Given the description of an element on the screen output the (x, y) to click on. 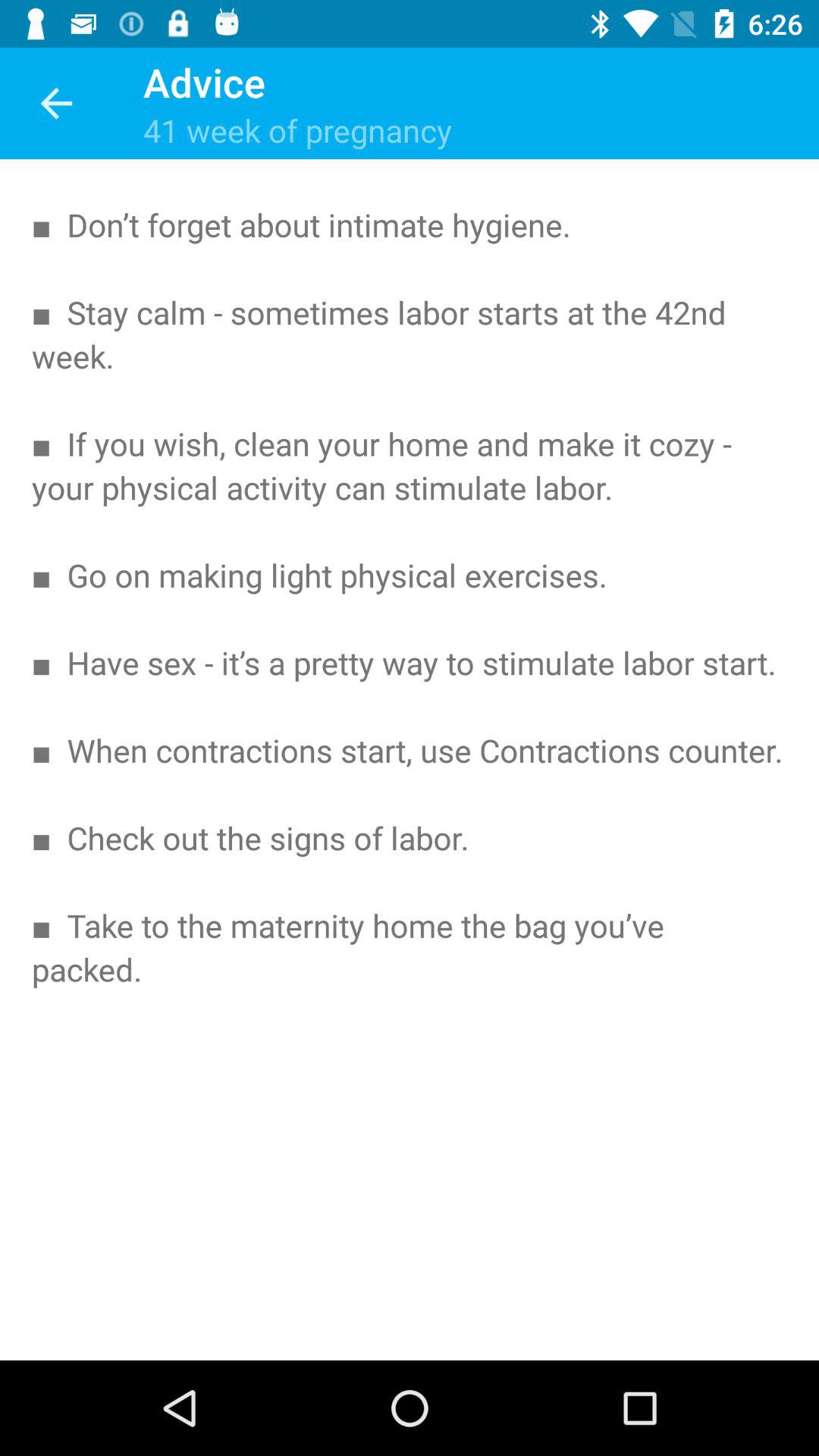
choose the item to the left of advice icon (55, 103)
